Given the description of an element on the screen output the (x, y) to click on. 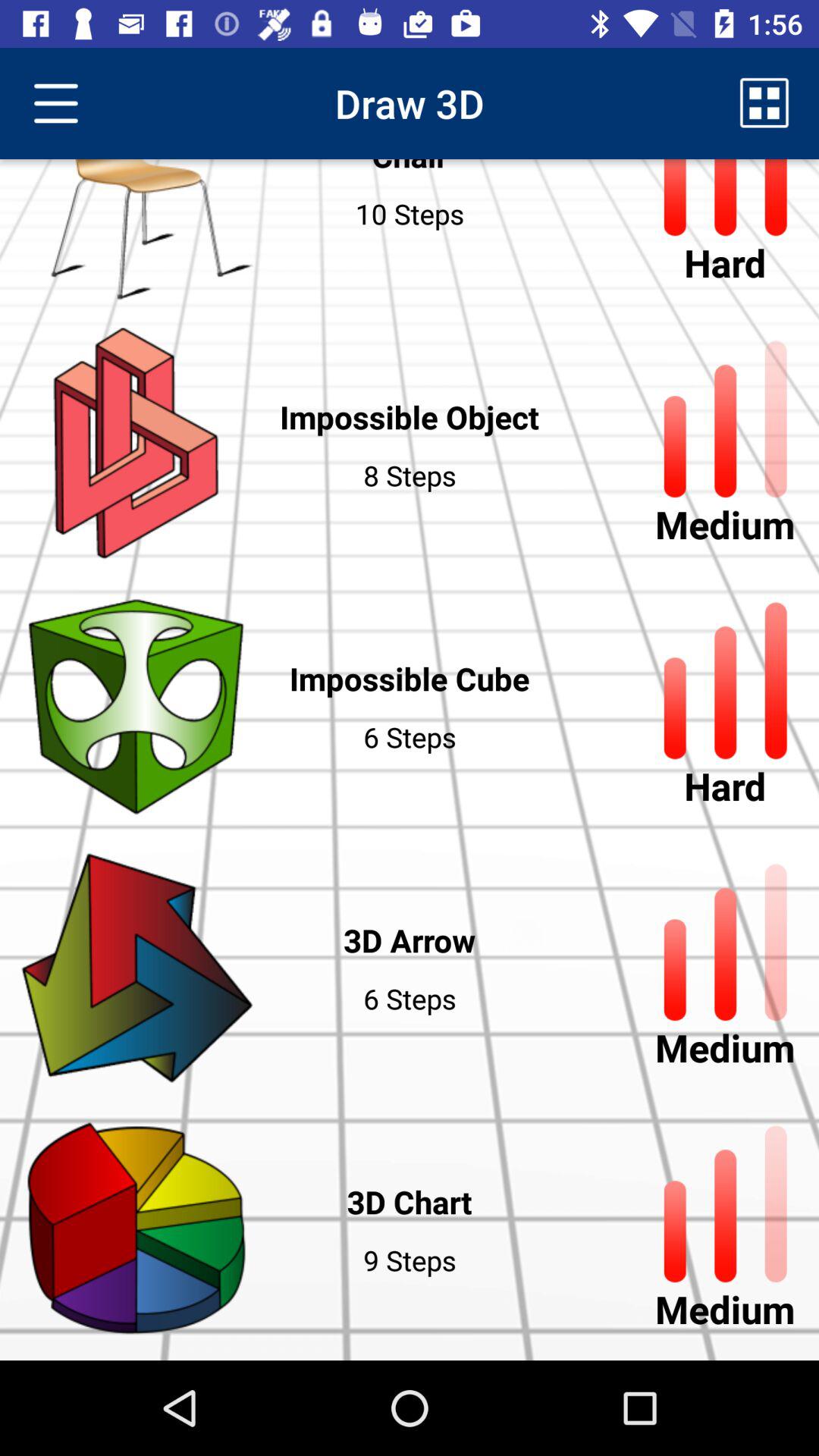
click the item to the right of chair (764, 103)
